Given the description of an element on the screen output the (x, y) to click on. 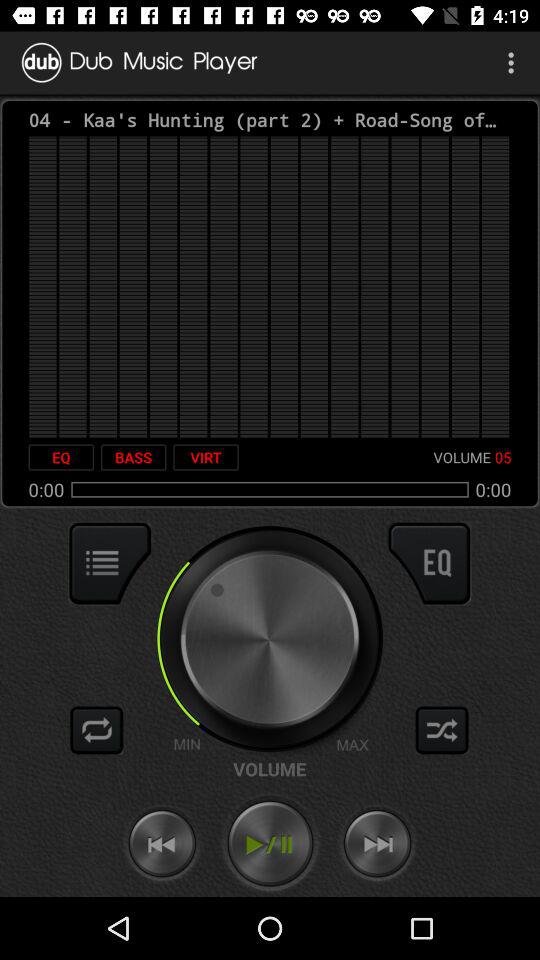
click the item next to  bass (61, 457)
